Given the description of an element on the screen output the (x, y) to click on. 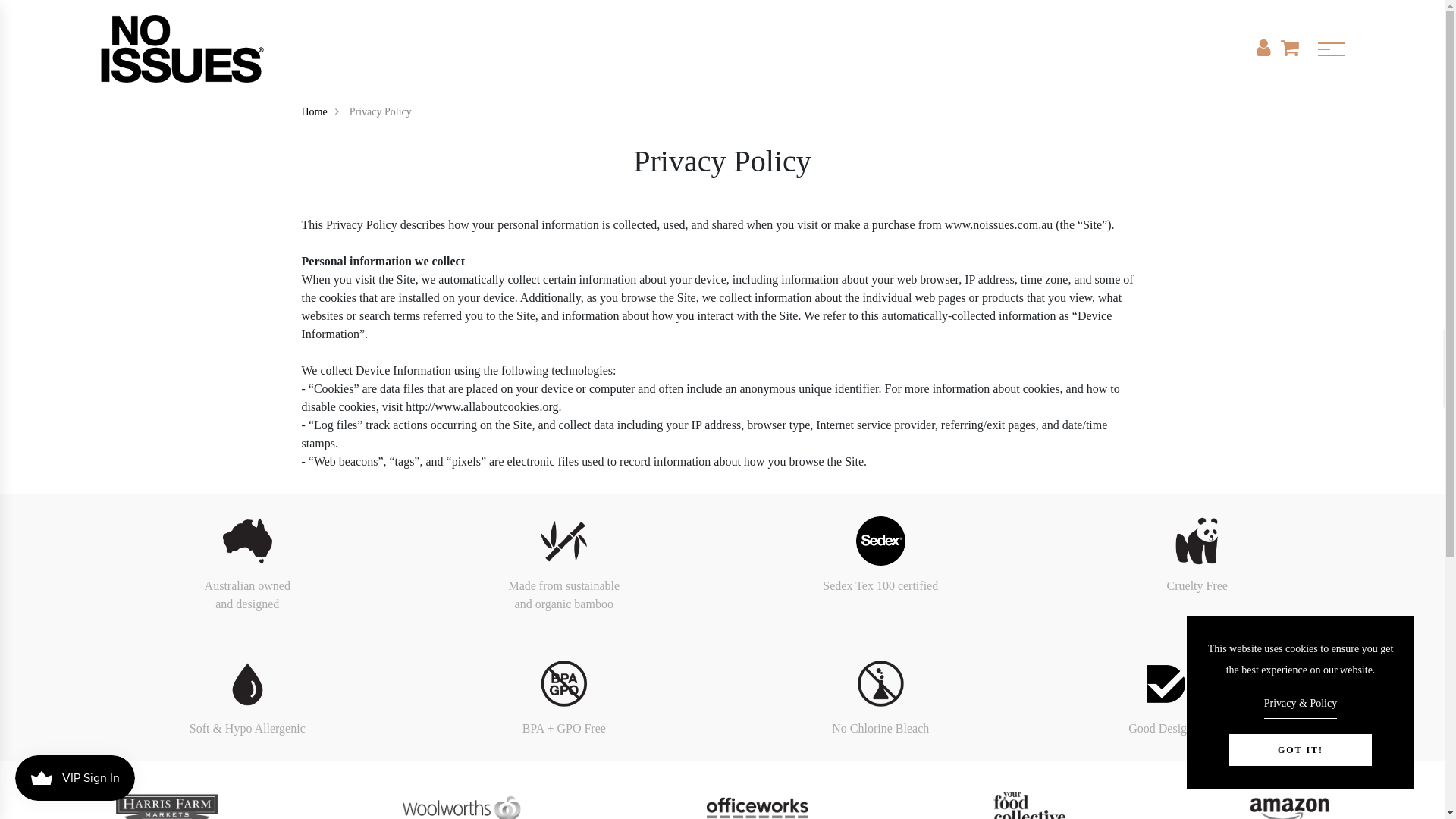
GOT IT! Element type: text (1300, 749)
Privacy & Policy Element type: text (1300, 705)
register Element type: text (722, 745)
Home Element type: text (323, 111)
Log In Element type: text (722, 483)
Smile.io Rewards Program Launcher Element type: hover (74, 777)
